Given the description of an element on the screen output the (x, y) to click on. 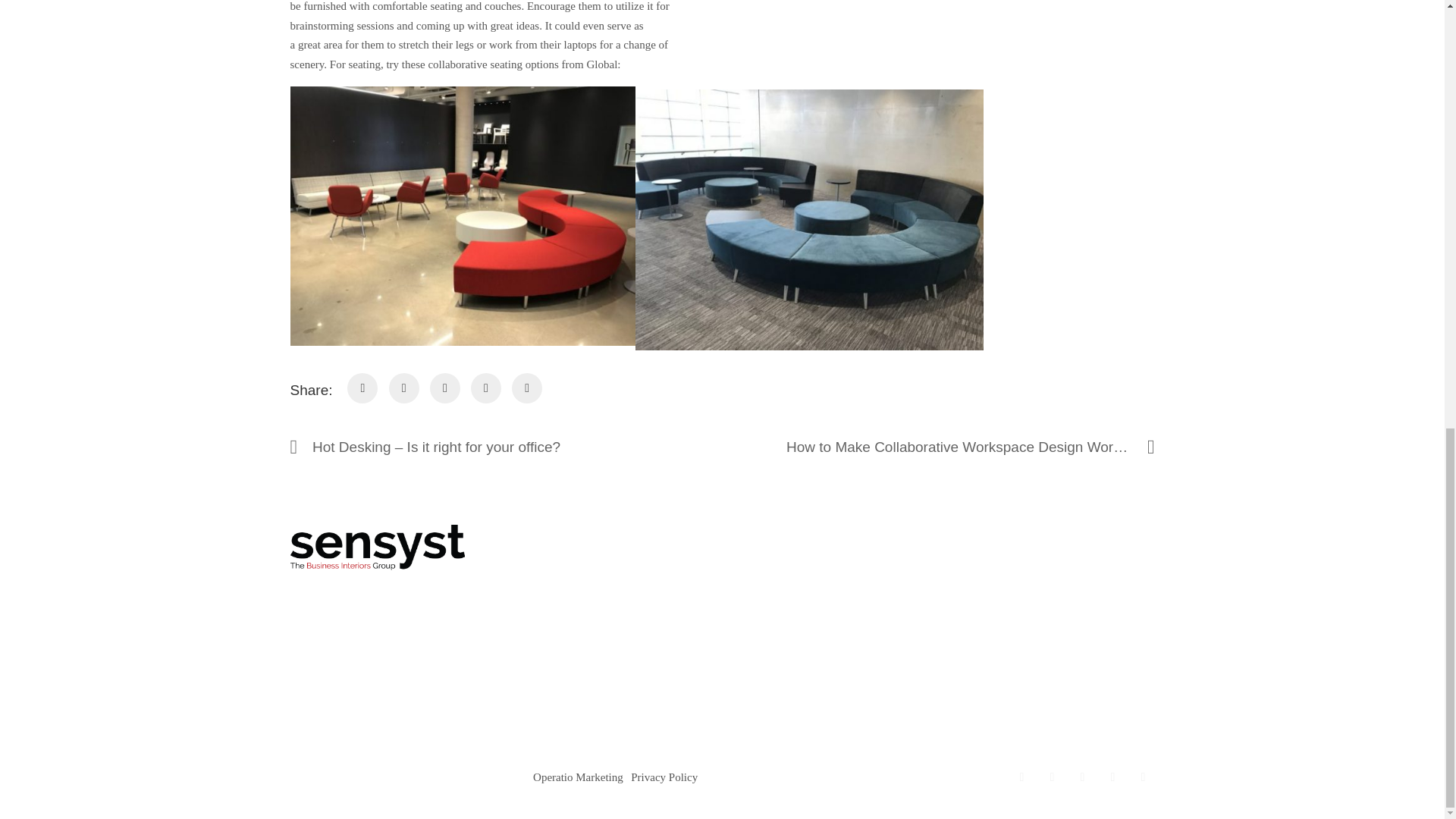
Email (1142, 776)
LinkedIn (1051, 776)
YouTube (1112, 776)
Instagram (1081, 776)
Facebook (1021, 776)
